Given the description of an element on the screen output the (x, y) to click on. 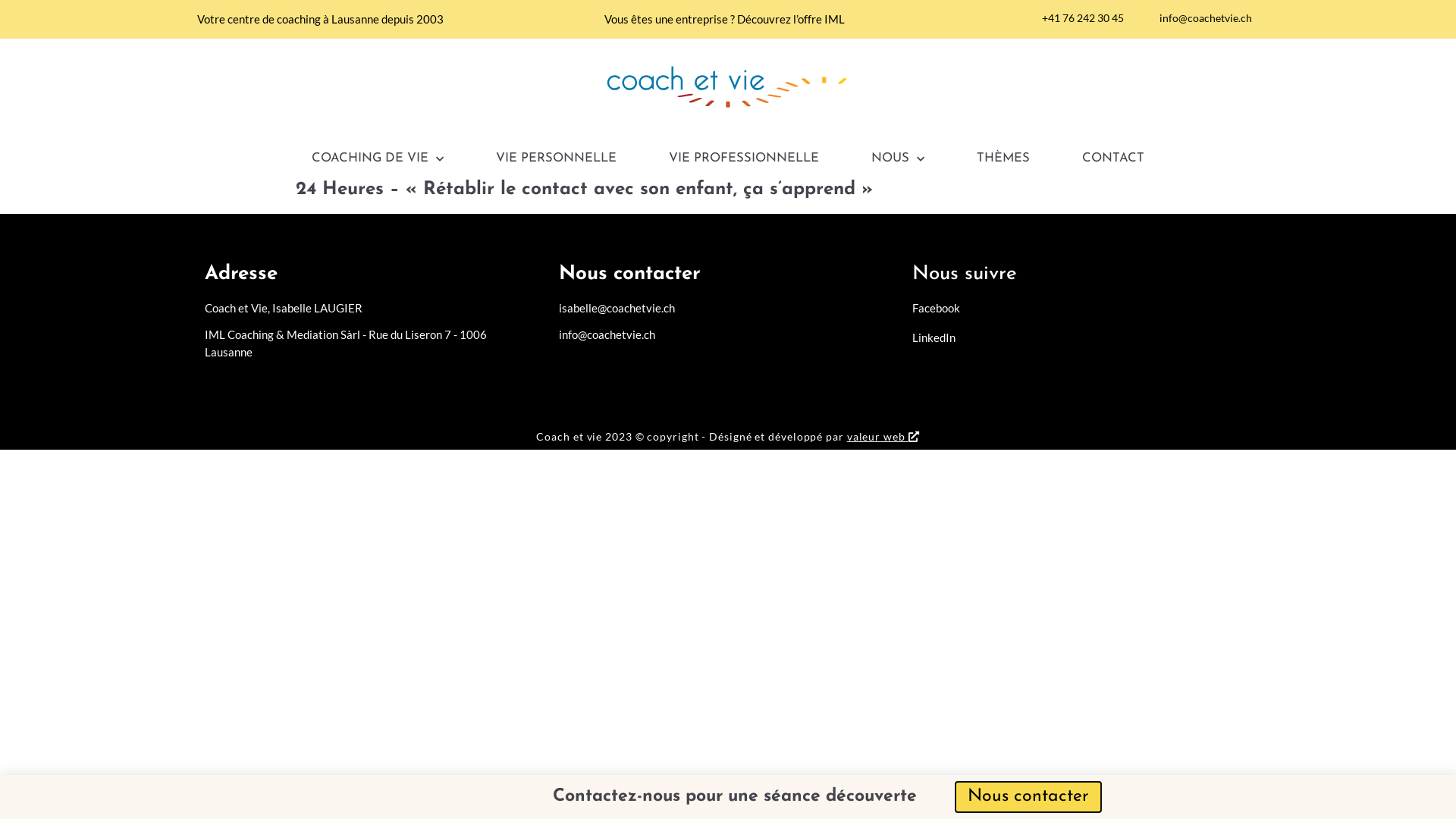
VIE PROFESSIONNELLE Element type: text (743, 158)
+41 76 242 30 45 Element type: text (1076, 17)
Nous contacter Element type: text (1028, 796)
VIE PERSONNELLE Element type: text (555, 158)
Facebook Element type: text (1074, 307)
COACHING DE VIE Element type: text (377, 158)
isabelle@coachetvie.ch Element type: text (720, 307)
info@coachetvie.ch Element type: text (1199, 17)
info@coachetvie.ch Element type: text (720, 334)
NOUS Element type: text (897, 158)
valeur web Element type: text (876, 435)
LinkedIn Element type: text (1074, 337)
CONTACT Element type: text (1113, 158)
